Given the description of an element on the screen output the (x, y) to click on. 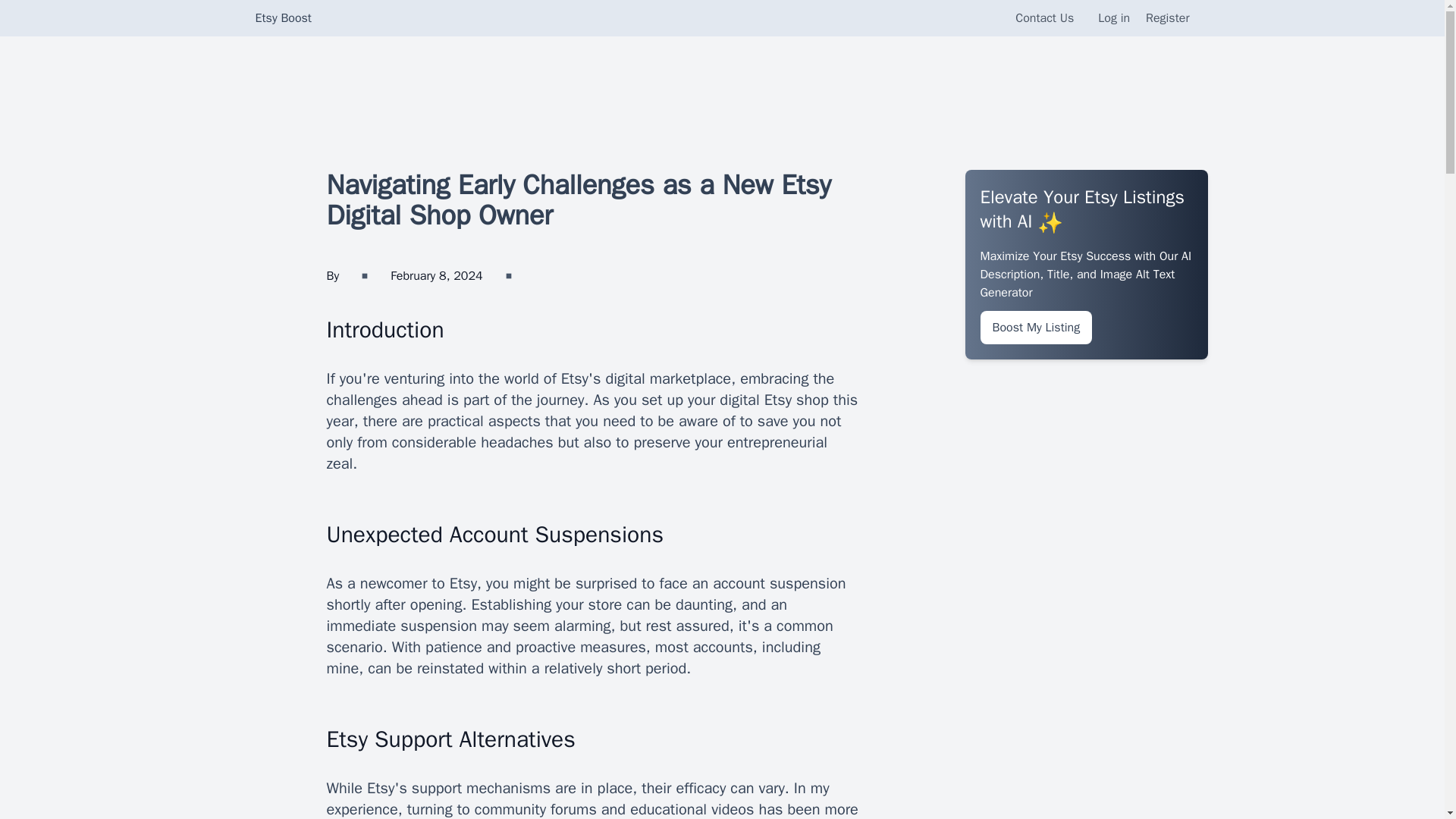
Boost My Listing (1035, 327)
Register (1167, 17)
Etsy Boost (282, 18)
Contact Us (1044, 17)
Log in (1113, 17)
